Given the description of an element on the screen output the (x, y) to click on. 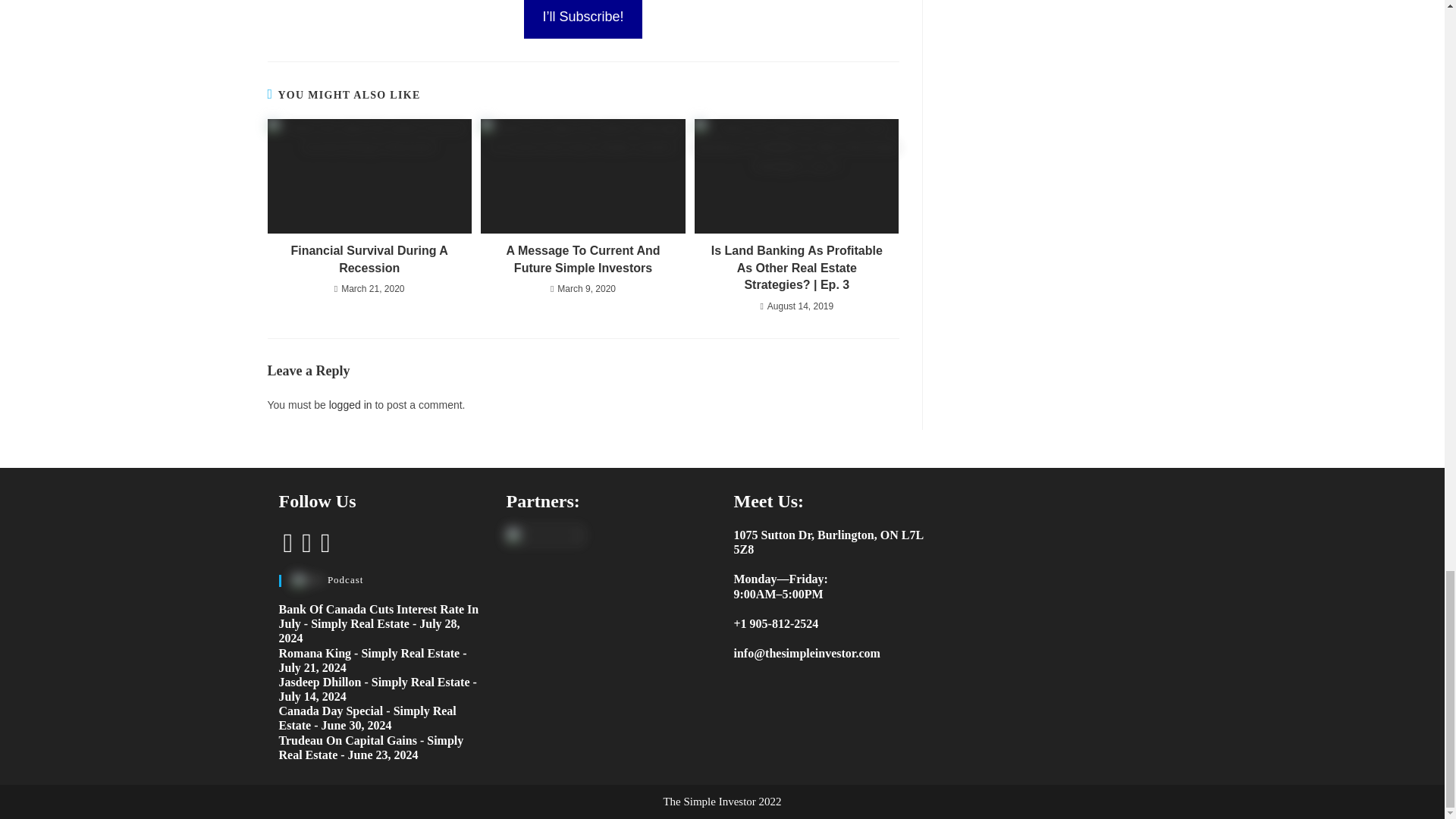
logged in (350, 404)
Financial Survival During A Recession (368, 259)
A Message To Current And Future Simple Investors (582, 259)
